Given the description of an element on the screen output the (x, y) to click on. 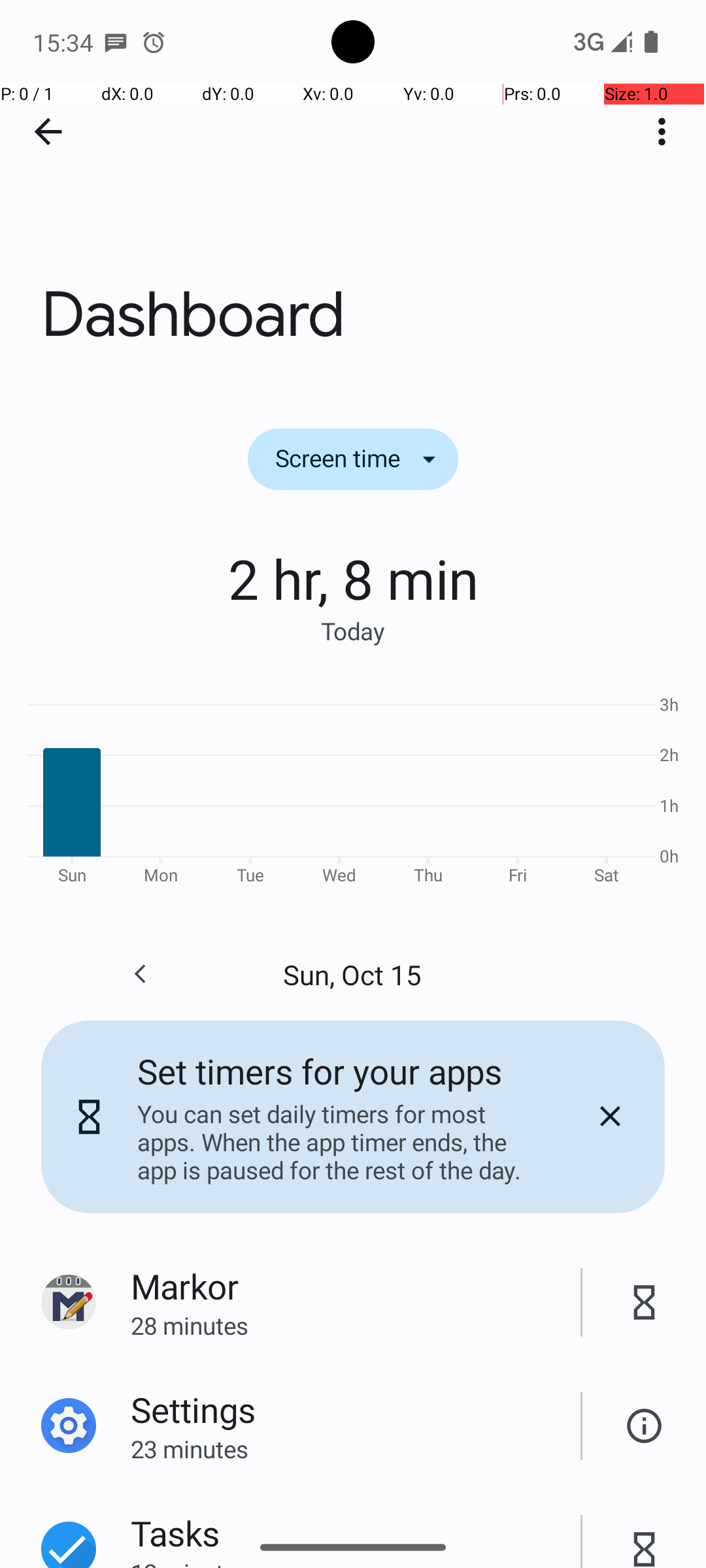
Dashboard Element type: android.widget.FrameLayout (353, 195)
2 hr, 8 min Element type: android.widget.TextView (353, 577)
Set timers for your apps Element type: android.widget.TextView (319, 1070)
You can set daily timers for most apps. When the app timer ends, the app is paused for the rest of the day. Element type: android.widget.TextView (339, 1141)
Dismiss card Element type: android.widget.Button (609, 1116)
28 minutes Element type: android.widget.TextView (355, 1325)
No timer set for Markor Element type: android.widget.FrameLayout (644, 1302)
23 minutes Element type: android.widget.TextView (355, 1448)
Can't set timer Element type: android.widget.FrameLayout (644, 1425)
12 minutes Element type: android.widget.TextView (355, 1562)
No timer set for Tasks Element type: android.widget.FrameLayout (644, 1534)
Bar Chart. Showing Phone usage data with 7 data points. Element type: android.view.ViewGroup (353, 787)
